Given the description of an element on the screen output the (x, y) to click on. 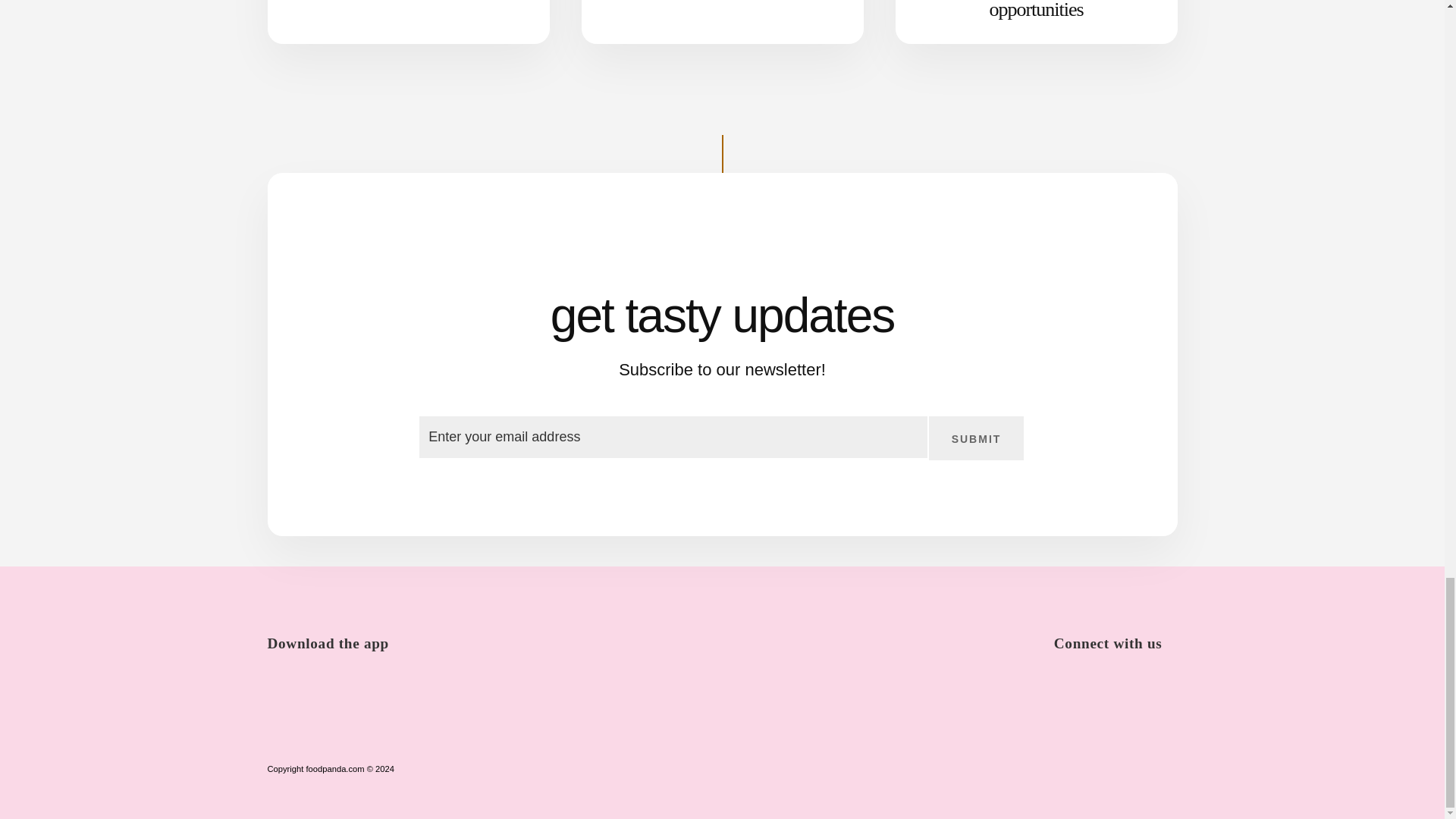
SUBMIT (976, 438)
Connect with us (1115, 630)
Download the app (334, 630)
